Given the description of an element on the screen output the (x, y) to click on. 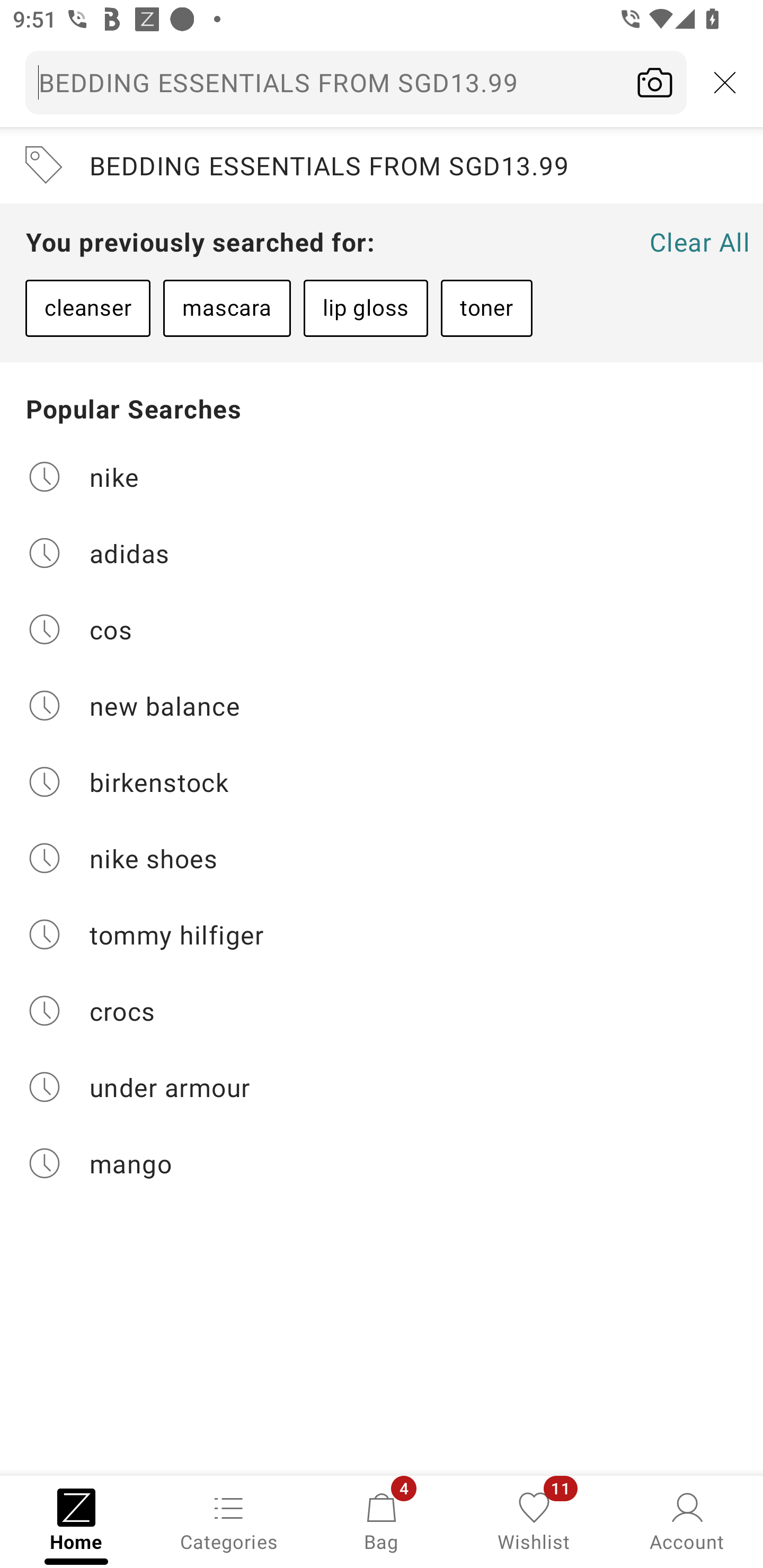
BEDDING ESSENTIALS FROM SGD13.99 (381, 82)
BEDDING ESSENTIALS FROM SGD13.99 (381, 165)
Clear All (699, 241)
cleanser (87, 308)
mascara (226, 308)
lip gloss (365, 308)
toner (486, 308)
nike (381, 476)
adidas (381, 552)
cos (381, 629)
new balance (381, 705)
birkenstock (381, 781)
nike shoes (381, 858)
tommy hilfiger (381, 934)
crocs (381, 1010)
under armour (381, 1086)
mango (381, 1163)
Categories (228, 1519)
Bag, 4 new notifications Bag (381, 1519)
Wishlist, 11 new notifications Wishlist (533, 1519)
Account (686, 1519)
